Given the description of an element on the screen output the (x, y) to click on. 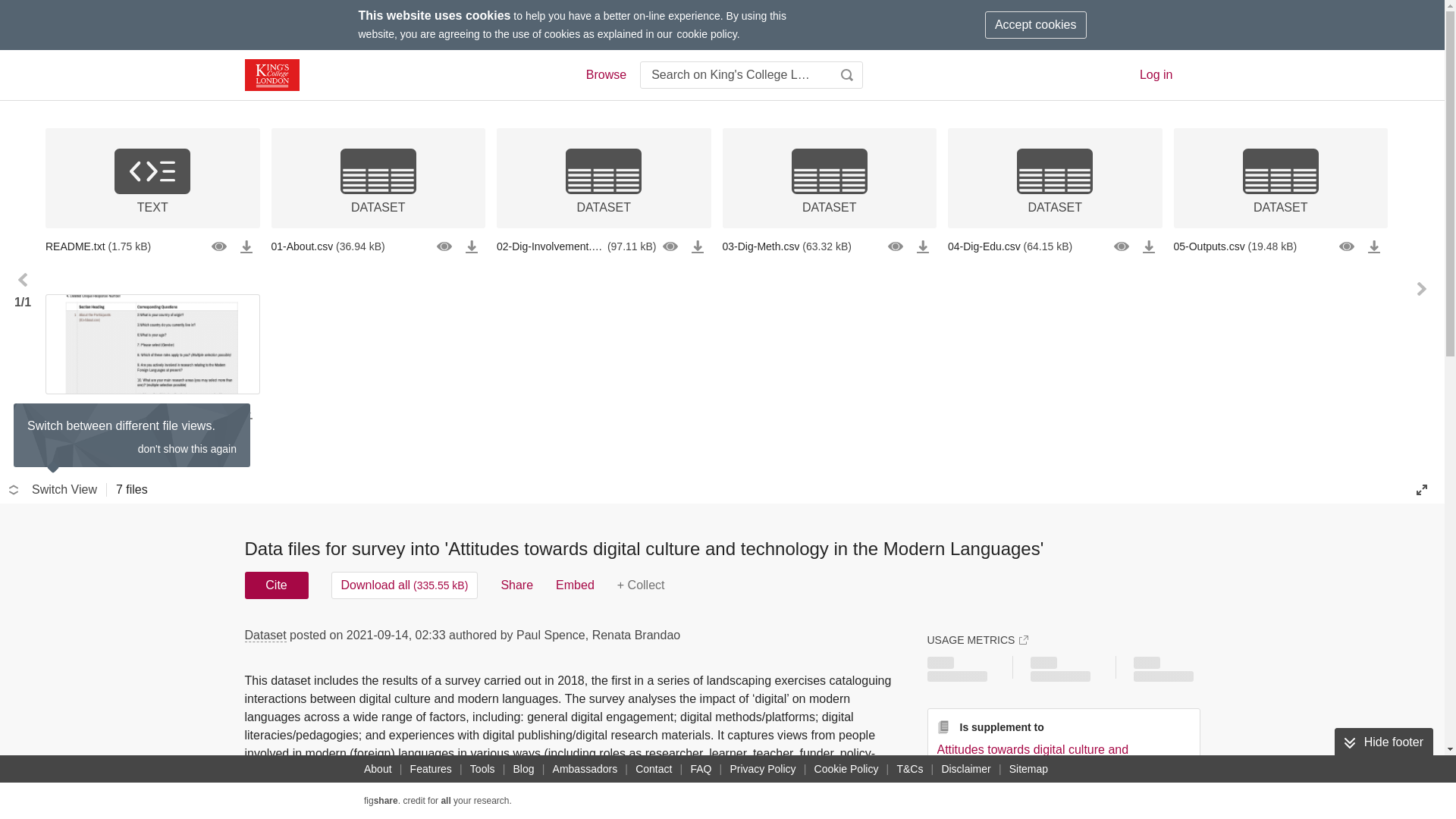
Log in (1156, 74)
README.txt (152, 246)
05-Outputs.csv (1281, 246)
02-Dig-Involvement.csv (603, 246)
01-About.csv (378, 246)
cookie policy (706, 33)
Switch View (52, 489)
Cite (275, 584)
Accept cookies (1035, 24)
